Given the description of an element on the screen output the (x, y) to click on. 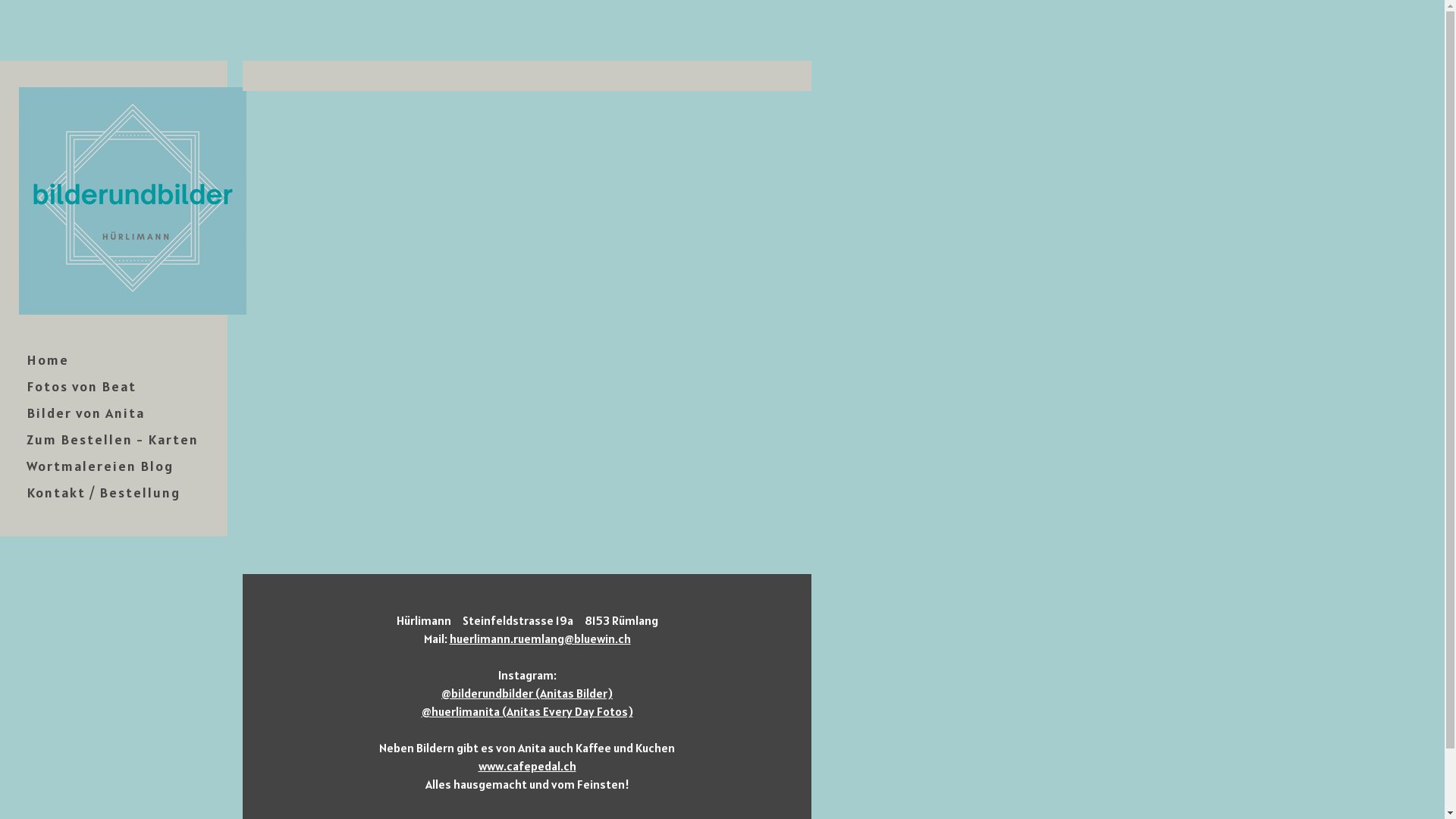
huerlimann.ruemlang@bluewin.ch Element type: text (539, 638)
Kontakt / Bestellung Element type: text (113, 492)
@huerlimanita (Anitas Every Day Fotos) Element type: text (527, 710)
Home Element type: text (113, 359)
www.cafepedal.ch Element type: text (526, 765)
Fotos von Beat Element type: text (113, 386)
Bilder von Anita Element type: text (113, 412)
@bilderundbilder (Anitas Bilder) Element type: text (526, 692)
Wortmalereien Blog Element type: text (113, 465)
Zum Bestellen - Karten Element type: text (113, 439)
